Given the description of an element on the screen output the (x, y) to click on. 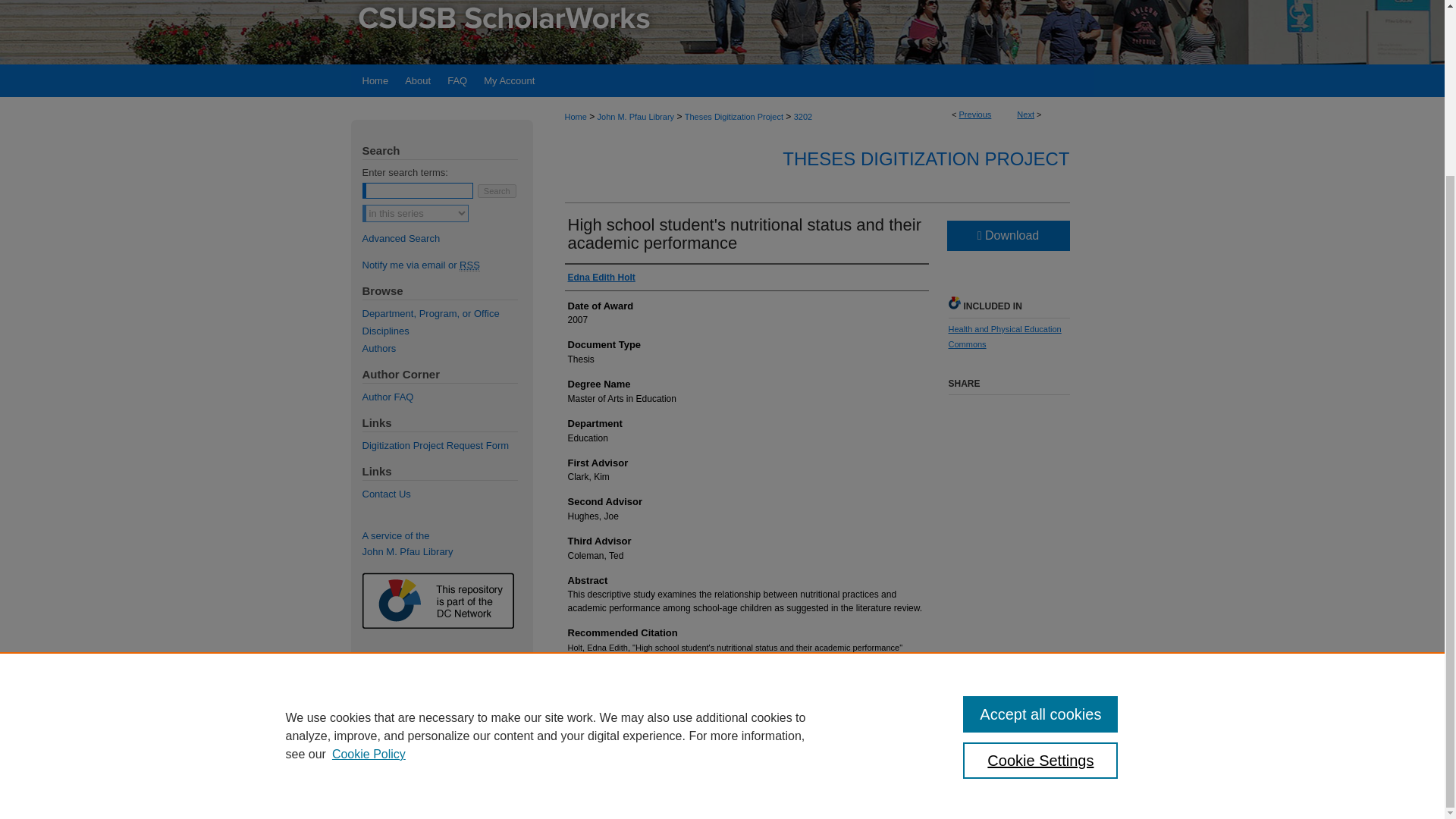
Browse by Disciplines (447, 330)
Advanced Search (401, 238)
Health and Physical Education Commons (1004, 336)
Email or RSS Notifications (447, 265)
About (417, 80)
FAQ (457, 80)
3202 (802, 116)
Home (373, 80)
About (417, 80)
Home (575, 116)
Next (1024, 113)
Search (496, 191)
Theses Digitization Project (733, 116)
Previous (975, 113)
Contact Us (447, 493)
